Given the description of an element on the screen output the (x, y) to click on. 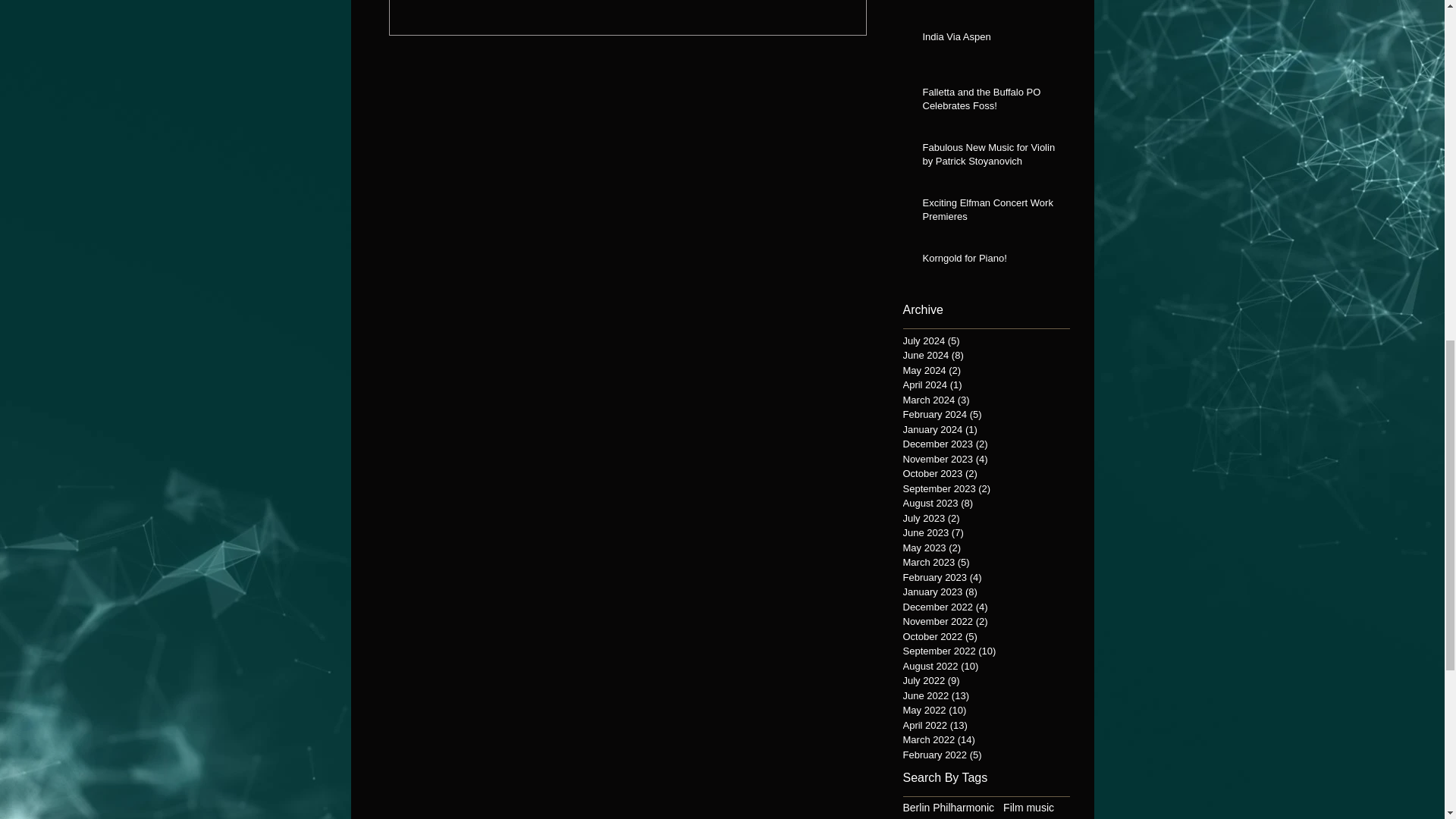
Korngold for Piano! (990, 261)
India Via Aspen (990, 39)
Exciting Elfman Concert Work Premieres (990, 213)
Spiritual Brucknerian Heights with Honneck (990, 4)
Falletta and the Buffalo PO Celebrates Foss! (990, 101)
Fabulous New Music for Violin by Patrick Stoyanovich (990, 157)
